Given the description of an element on the screen output the (x, y) to click on. 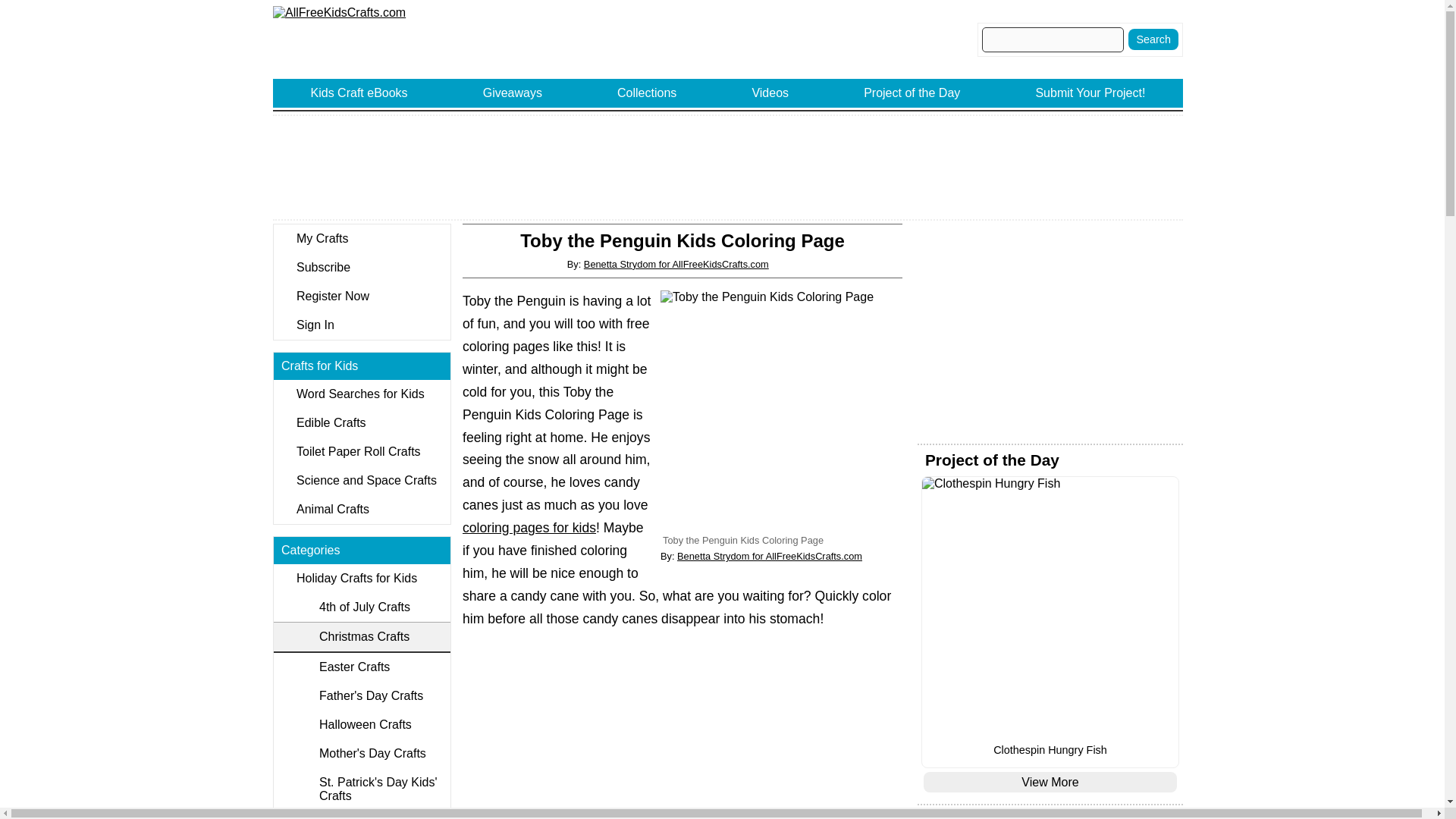
Sign In (361, 325)
Toby the Penguin Kids Coloring Page (781, 411)
Coloring Pages (529, 527)
Register Now (361, 296)
Search (1152, 38)
My Crafts (361, 238)
Subscribe (361, 267)
